Given the description of an element on the screen output the (x, y) to click on. 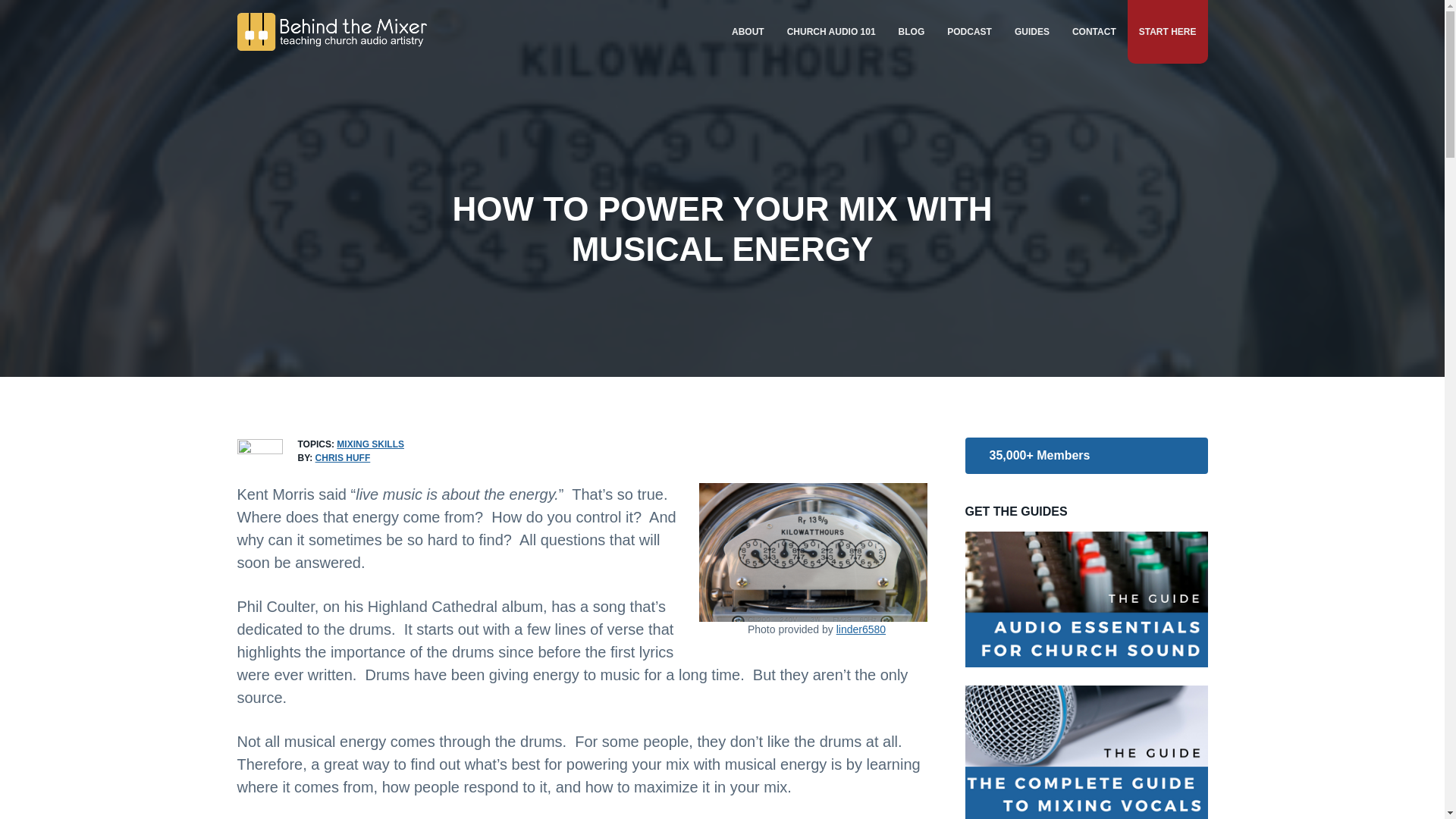
CHRIS HUFF (343, 457)
CHURCH AUDIO 101 (831, 31)
START HERE (1167, 31)
MIXING SKILLS (370, 443)
linder6580 (860, 629)
BEHIND THE MIXER (297, 56)
PODCAST (969, 31)
CONTACT (1093, 31)
GUIDES (1032, 31)
